Given the description of an element on the screen output the (x, y) to click on. 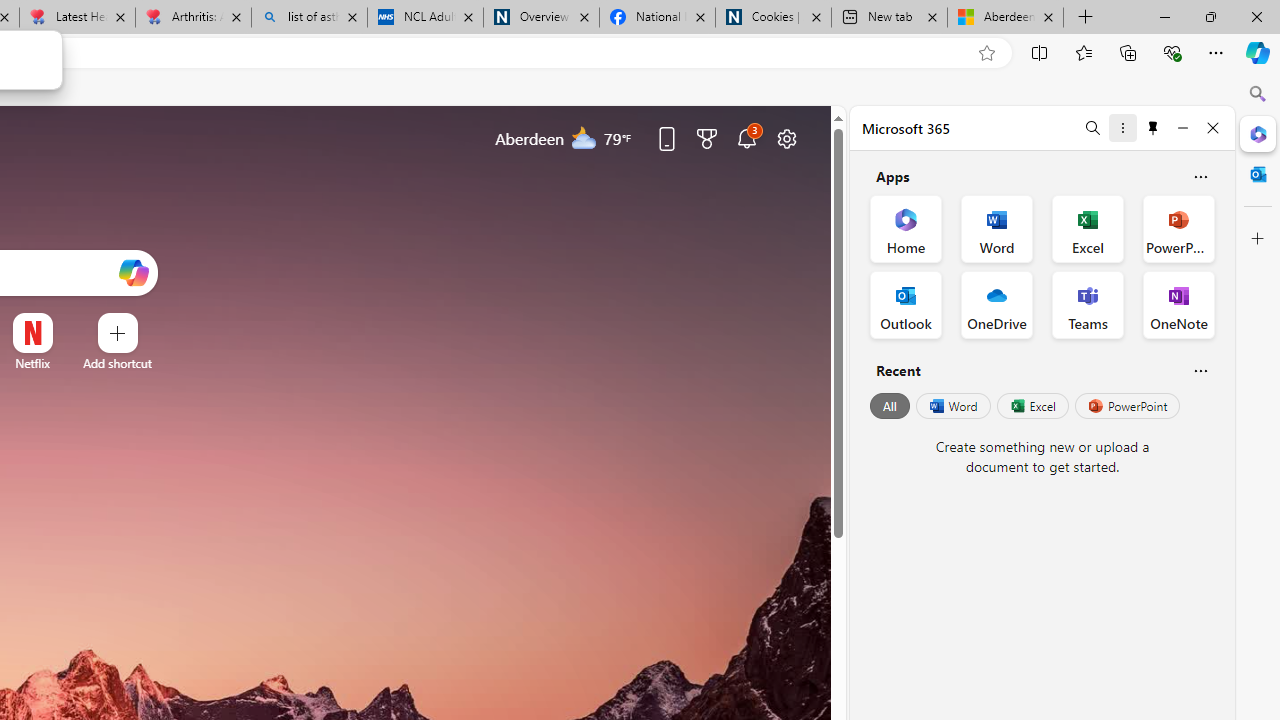
Close Customize pane (1258, 239)
OneNote Office App (1178, 304)
PowerPoint (1127, 406)
Notifications (746, 138)
Cookies | About | NICE (772, 17)
list of asthma inhalers uk - Search (309, 17)
Word (952, 406)
Aberdeen, Hong Kong SAR hourly forecast | Microsoft Weather (1005, 17)
More Options (64, 320)
